Given the description of an element on the screen output the (x, y) to click on. 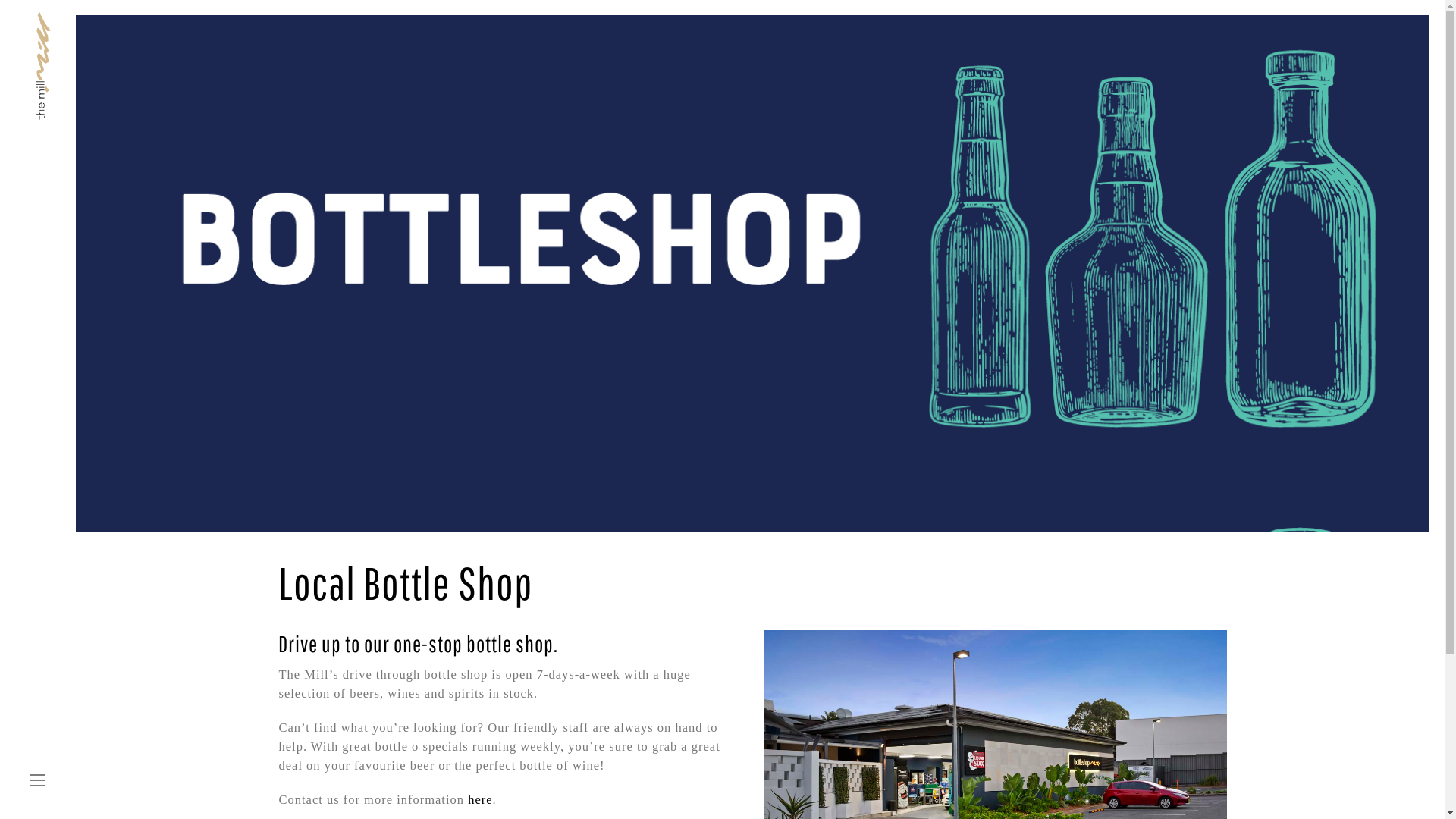
here Element type: text (479, 799)
toggle menu Element type: text (37, 780)
